Given the description of an element on the screen output the (x, y) to click on. 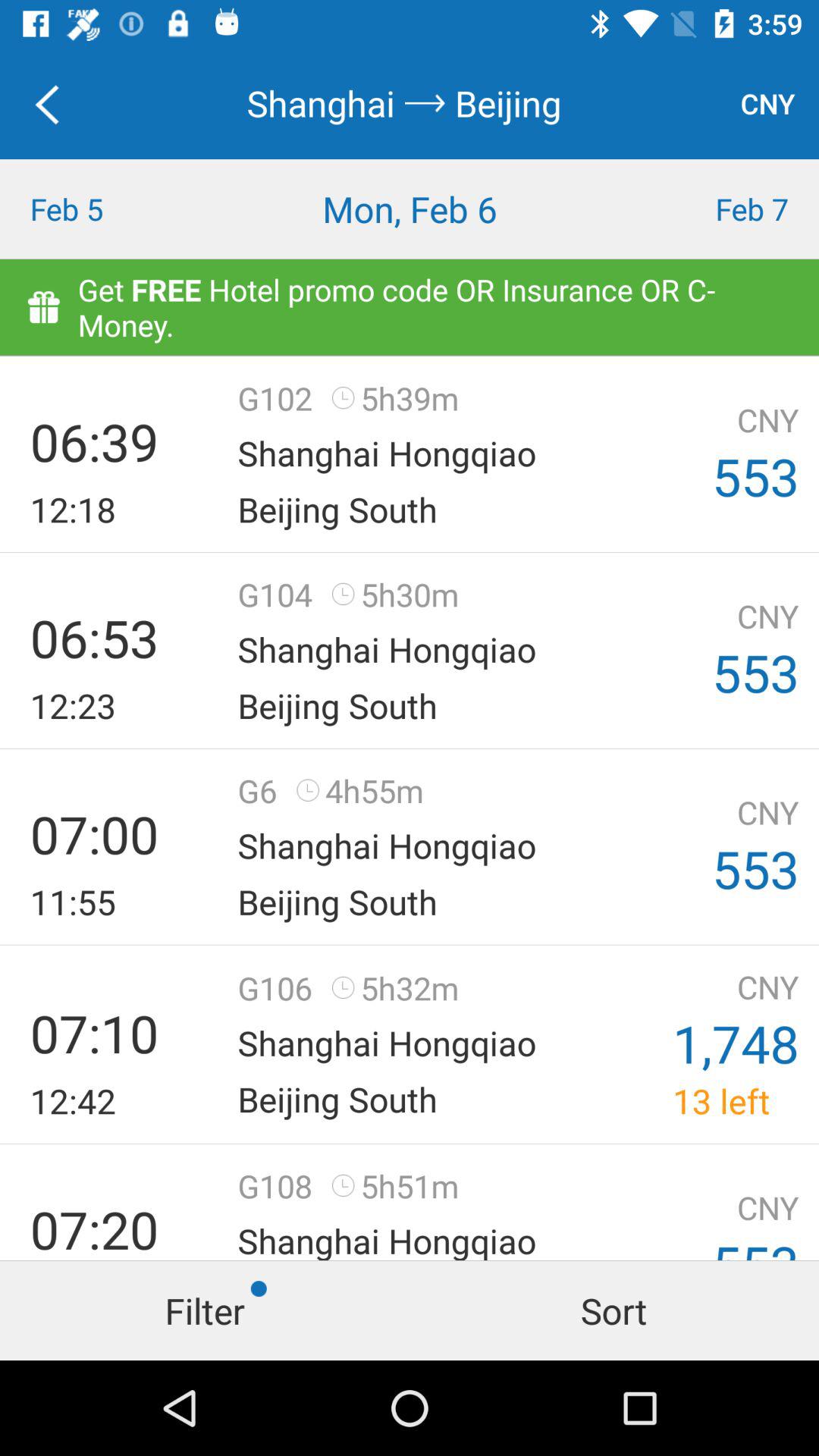
turn off icon above the feb 5 (55, 103)
